Given the description of an element on the screen output the (x, y) to click on. 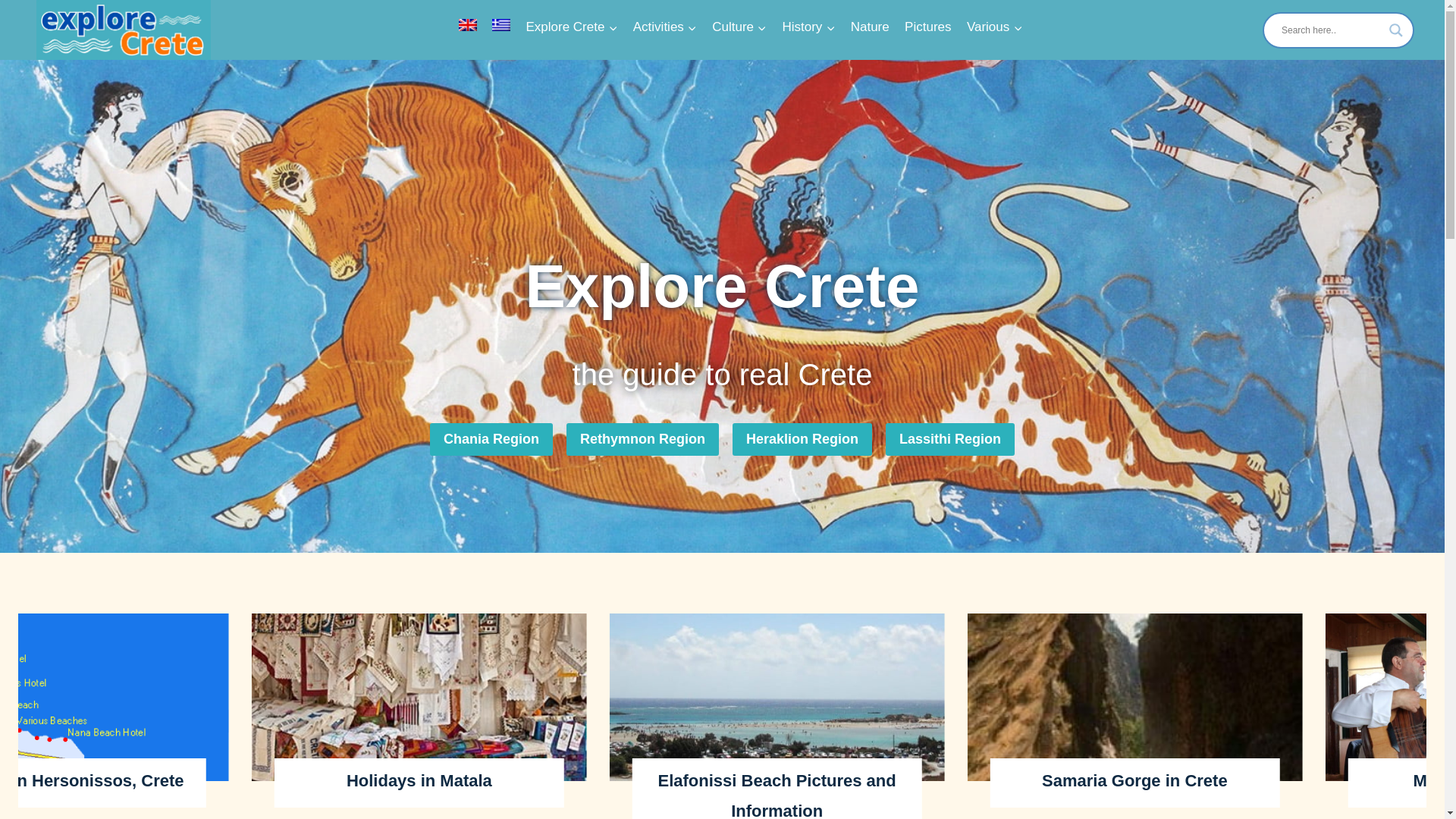
Various (994, 27)
Pictures (927, 27)
Activities (665, 27)
History (808, 27)
Nature (869, 27)
Culture (739, 27)
Explore Crete (571, 27)
